Given the description of an element on the screen output the (x, y) to click on. 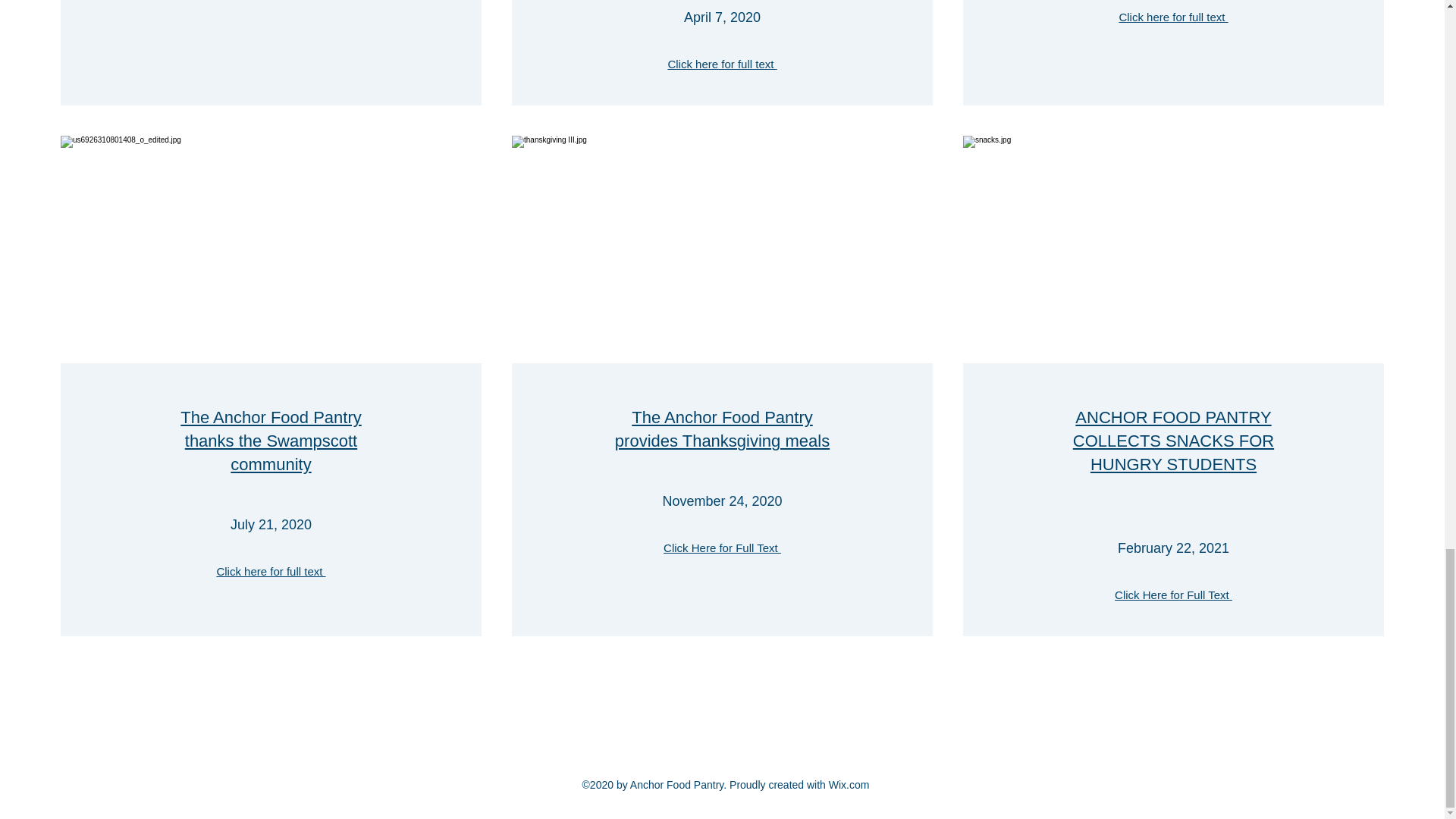
Click Here for Full Text  (1173, 594)
Click here for full text  (721, 63)
Click Here for Full Text  (721, 547)
The Anchor Food Pantry provides Thanksgiving meals (721, 428)
Click here for full text  (1172, 16)
ANCHOR FOOD PANTRY COLLECTS SNACKS FOR HUNGRY STUDENTS (1173, 440)
The Anchor Food Pantry thanks the Swampscott community (270, 440)
Click here for full text  (269, 571)
